Given the description of an element on the screen output the (x, y) to click on. 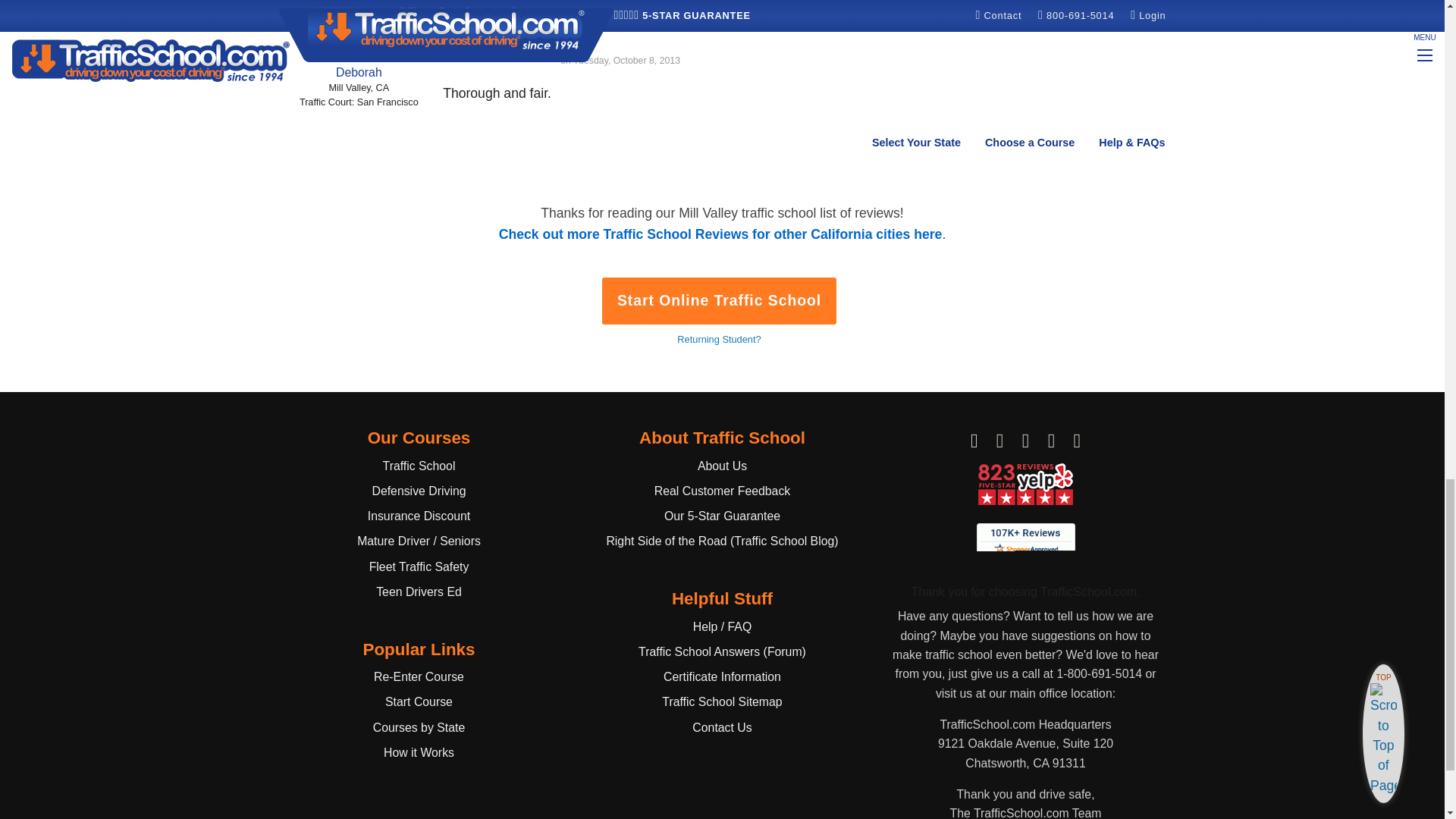
California Traffic School List of Reviews (720, 233)
Returning Student? (718, 338)
Traffic School Sitemap (721, 701)
Drivers Ed Online (418, 591)
How Does Traffic School Work (419, 752)
Traffic School Registration (418, 701)
Teen Drivers Ed (418, 591)
Traffic School Online (418, 465)
Traffic School Student Login (419, 676)
Start Course (418, 701)
